Given the description of an element on the screen output the (x, y) to click on. 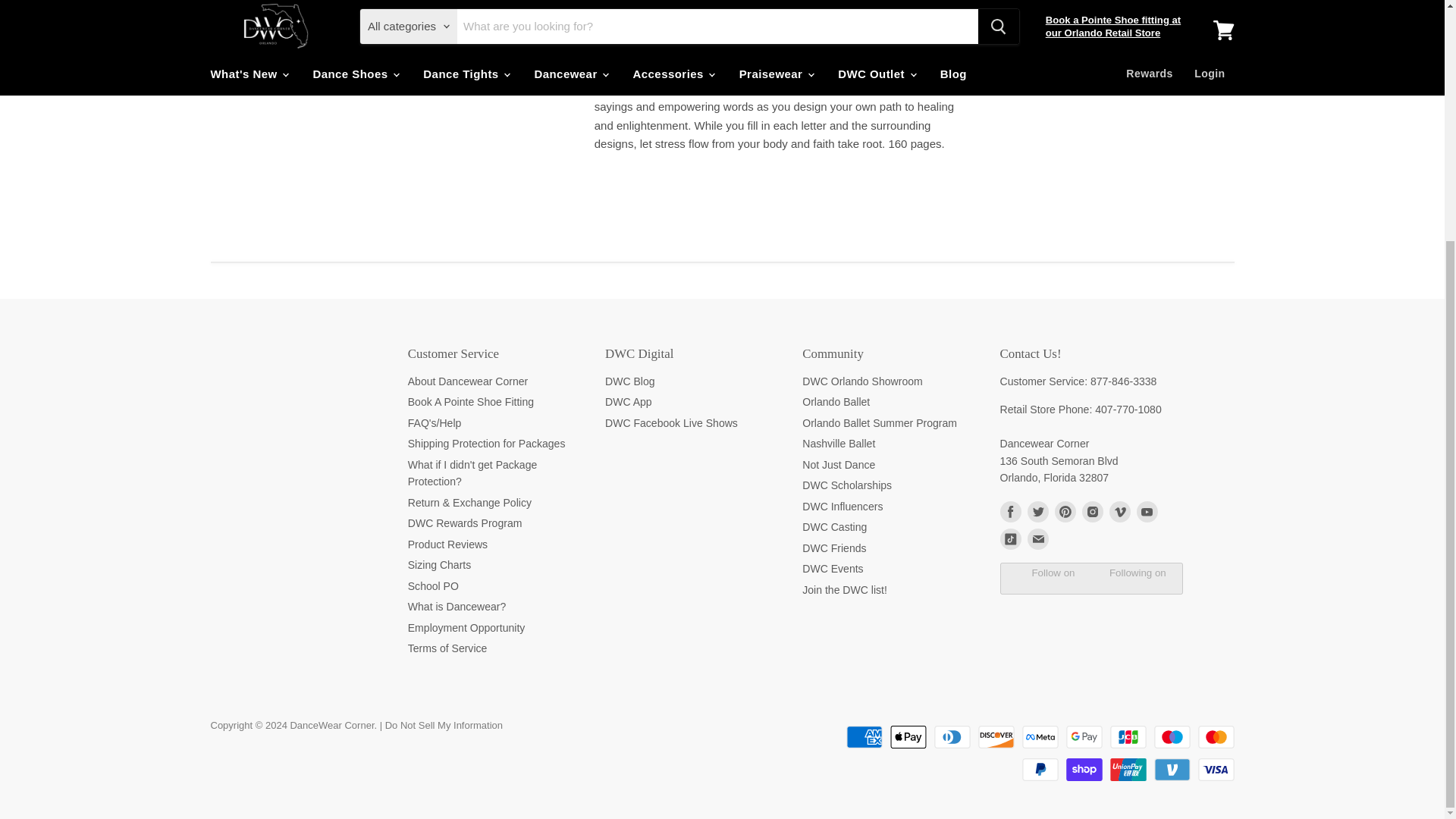
Youtube (1146, 511)
Twitter (1037, 511)
Email (1037, 538)
Facebook (1009, 511)
Instagram (1091, 511)
Pinterest (1064, 511)
Vimeo (1118, 511)
TikTok (1009, 538)
